Given the description of an element on the screen output the (x, y) to click on. 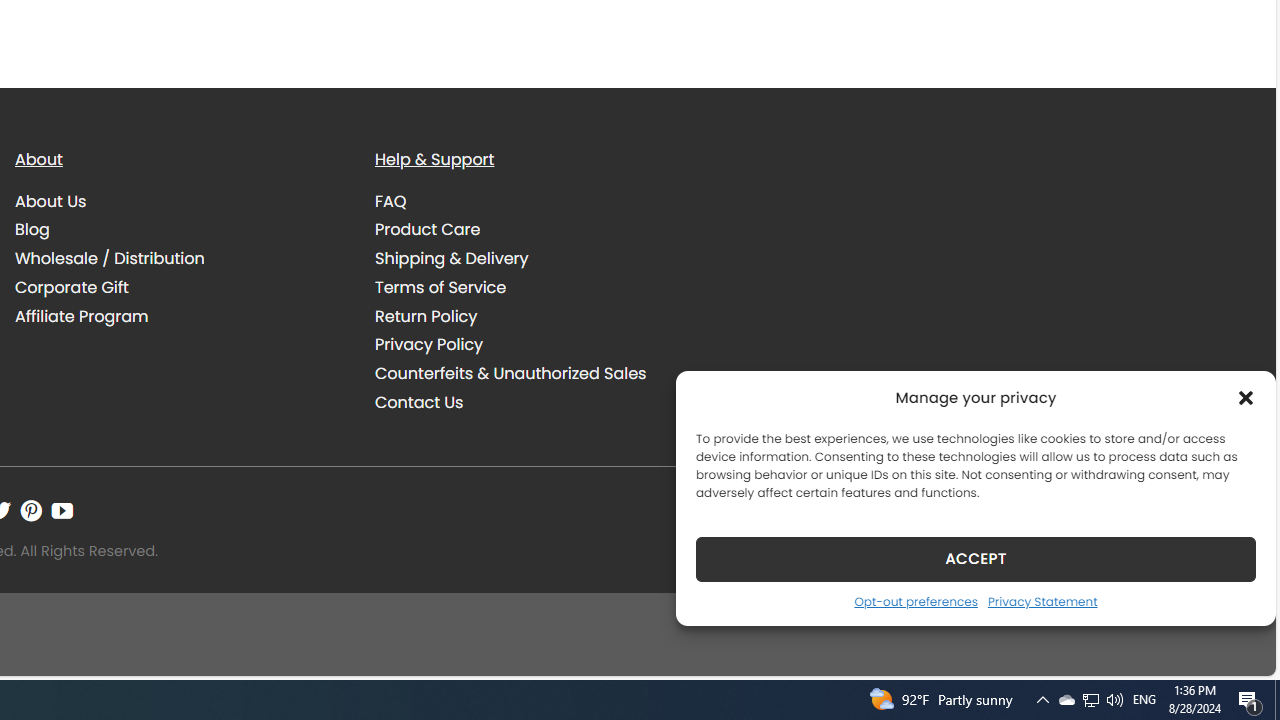
Affiliate Program (81, 315)
Terms of Service (540, 287)
Privacy Statement (1042, 601)
Corporate Gift (72, 286)
Product Care (428, 229)
FAQ (540, 201)
ACCEPT (975, 558)
Return Policy (426, 315)
Shipping & Delivery (540, 259)
Corporate Gift (180, 287)
Product Care (540, 229)
Privacy Policy (429, 344)
Counterfeits & Unauthorized Sales (540, 373)
Follow on YouTube (61, 511)
